Given the description of an element on the screen output the (x, y) to click on. 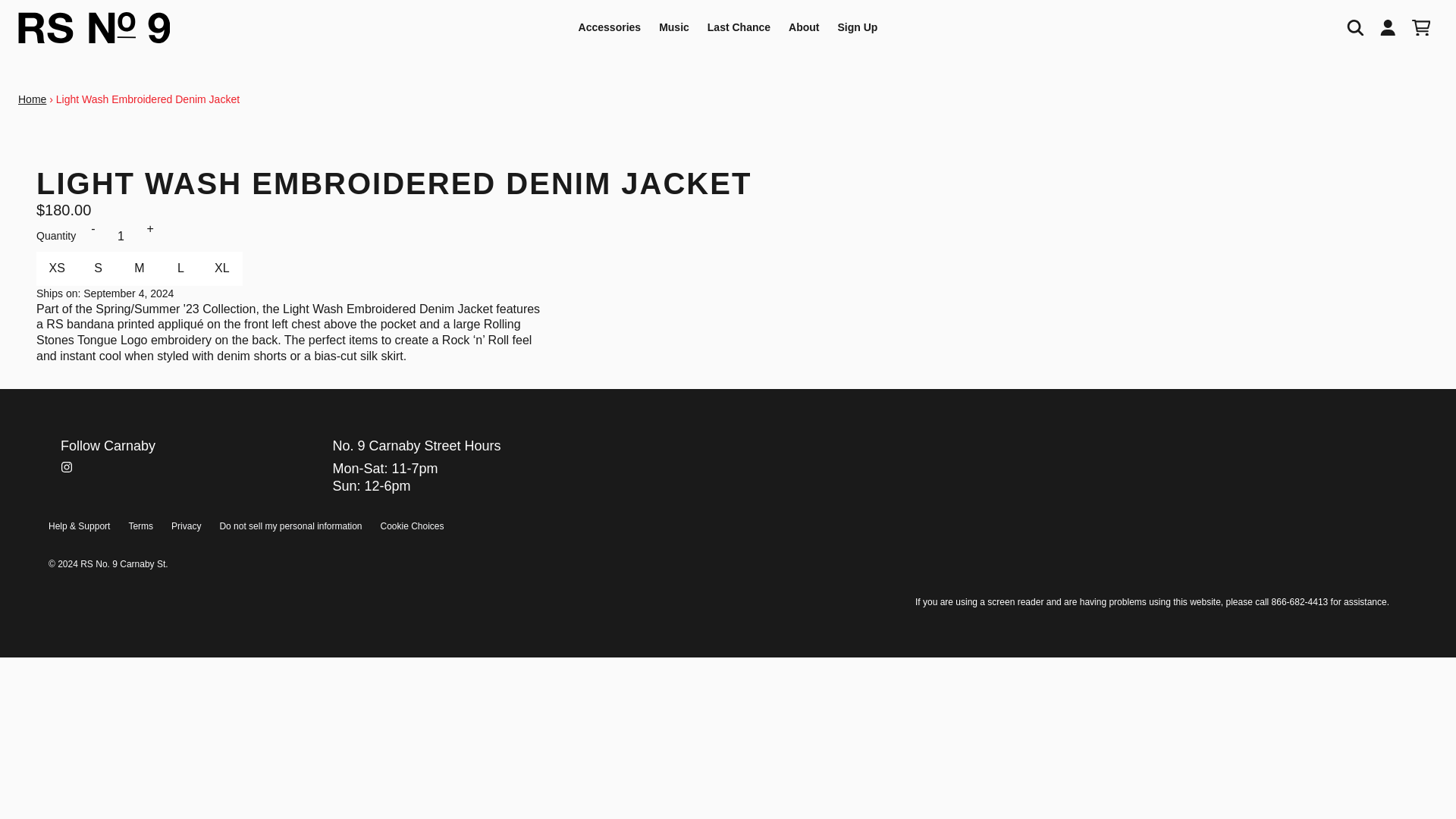
RS No. 9 Carnaby St. (93, 27)
1 (119, 236)
Back to home (31, 99)
